Given the description of an element on the screen output the (x, y) to click on. 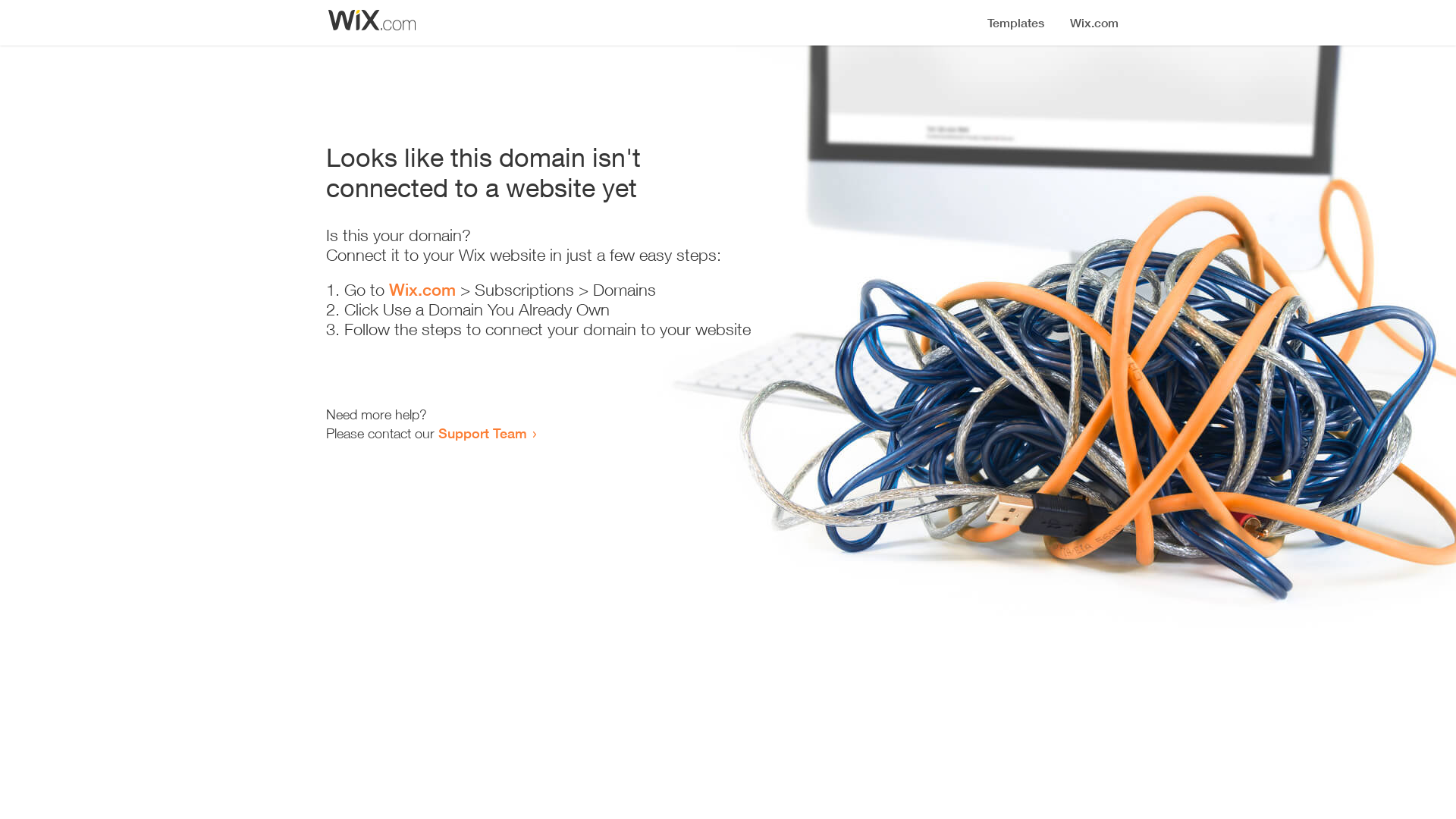
Support Team Element type: text (482, 432)
Wix.com Element type: text (422, 289)
